Given the description of an element on the screen output the (x, y) to click on. 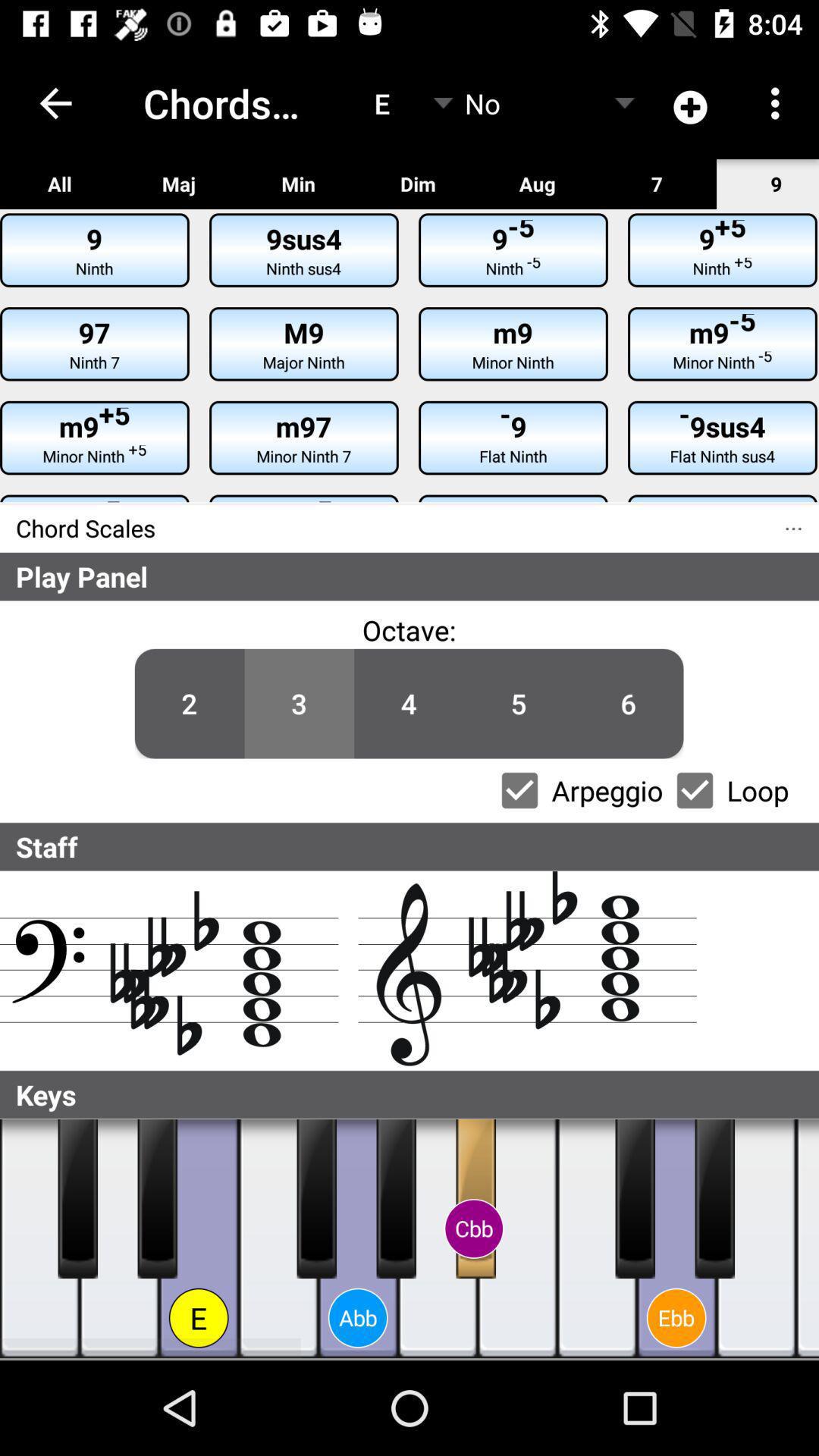
press key (39, 1238)
